Given the description of an element on the screen output the (x, y) to click on. 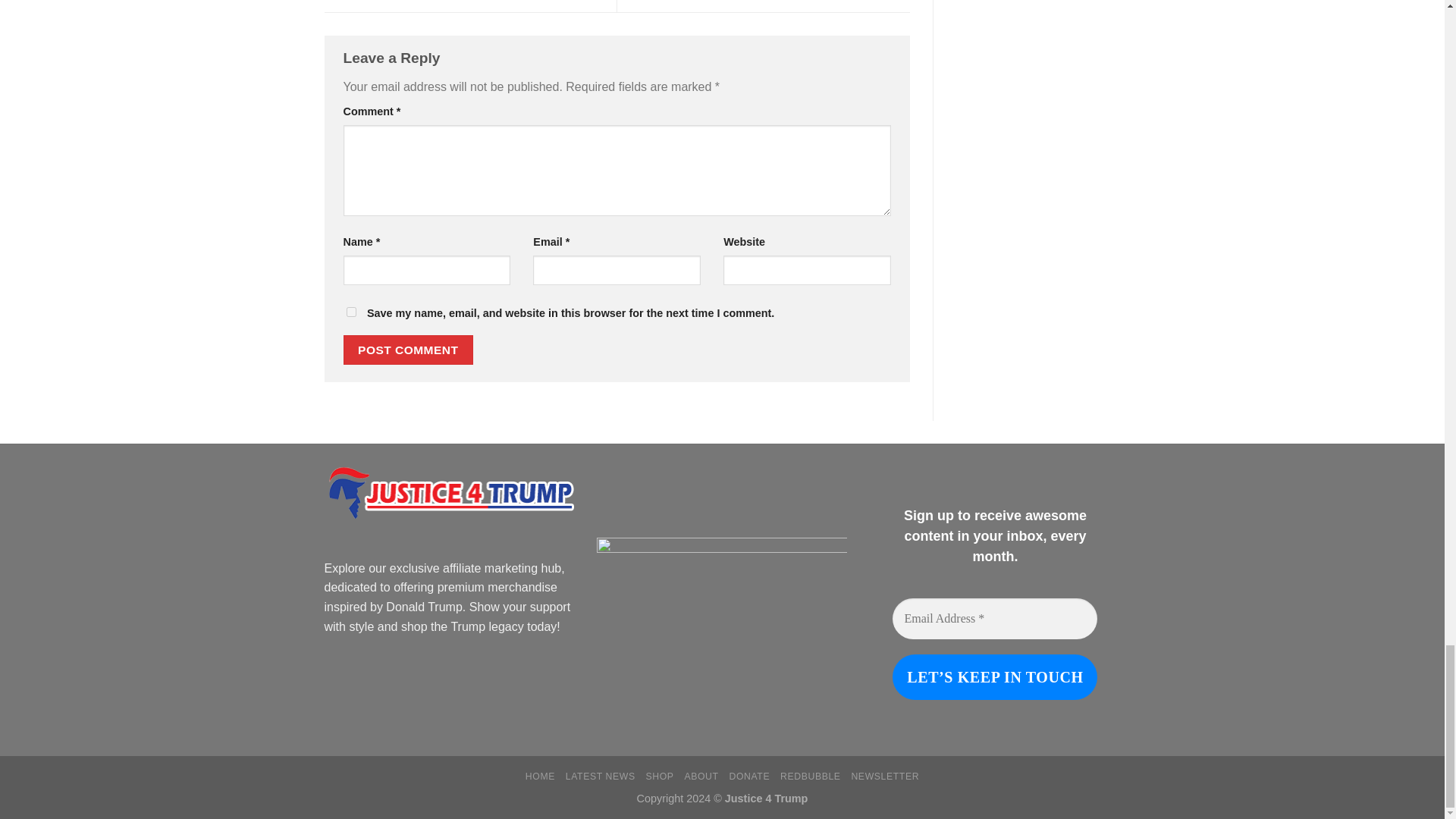
Post Comment (407, 348)
yes (350, 311)
Post Comment (407, 348)
